Given the description of an element on the screen output the (x, y) to click on. 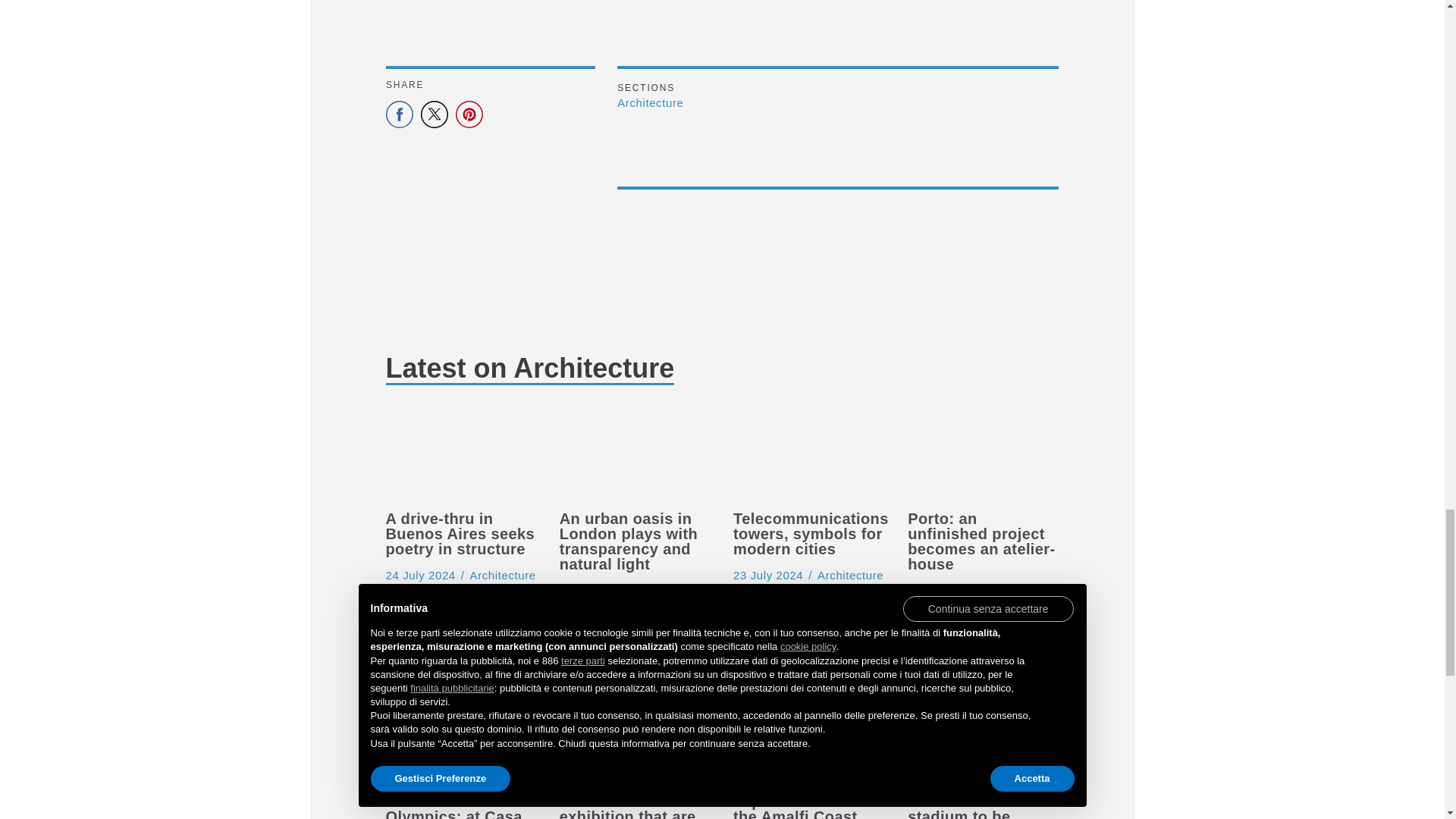
AS Roma new stadium to be designed by Populous (982, 738)
A drive-thru in Buenos Aires seeks poetry in structure (460, 455)
Telecommunications towers, symbols for modern cities (808, 455)
Porto: an unfinished project becomes an atelier-house (941, 590)
A drive-thru in Buenos Aires seeks poetry in structure (419, 574)
Porto: an unfinished project becomes an atelier-house (982, 455)
Telecommunications towers, symbols for modern cities (768, 574)
14  must-see exhibition that are closing soon  (634, 738)
